Given the description of an element on the screen output the (x, y) to click on. 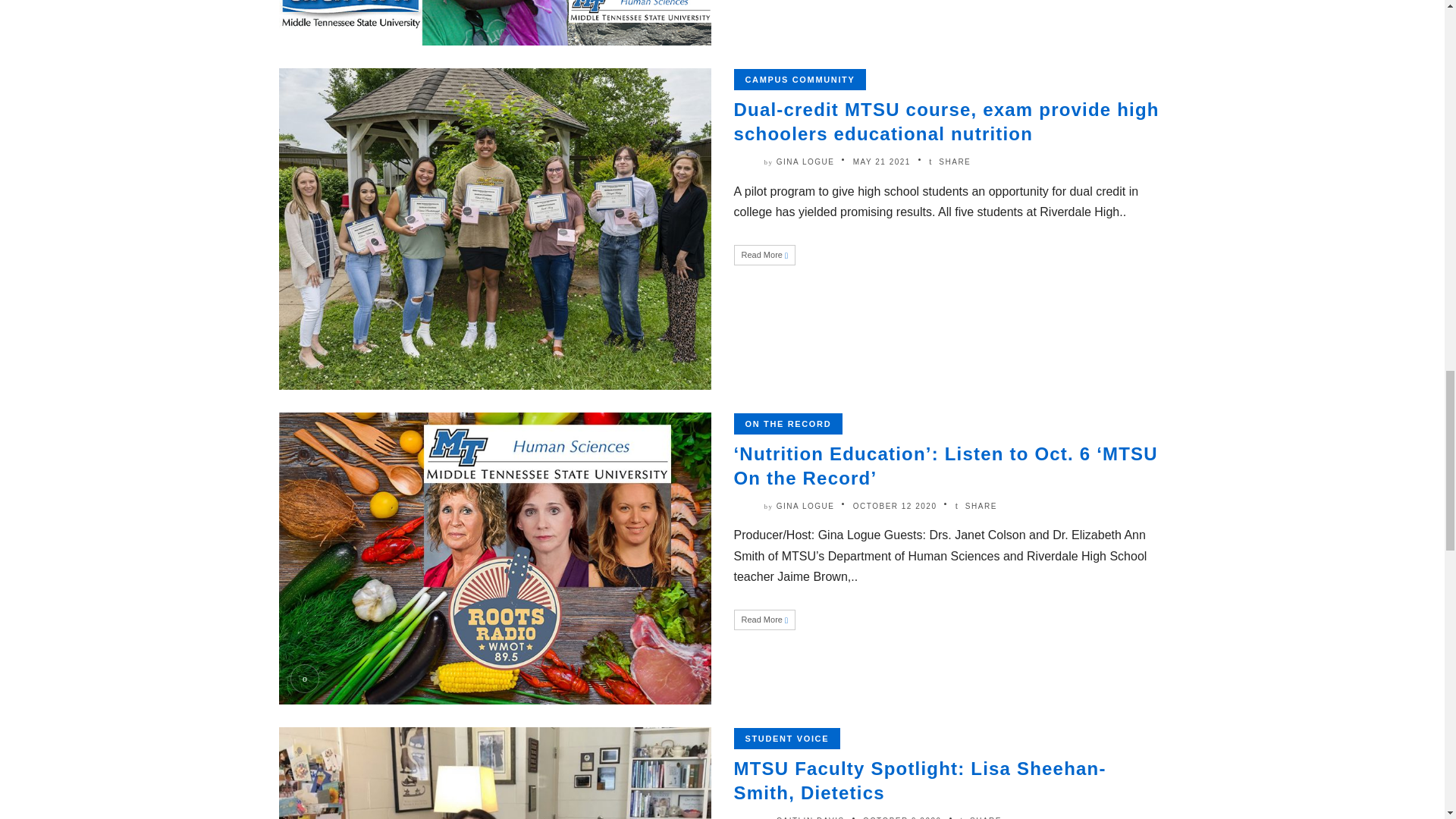
Posts by Gina Logue (805, 162)
May 21, 2021 2:54 (882, 162)
